Given the description of an element on the screen output the (x, y) to click on. 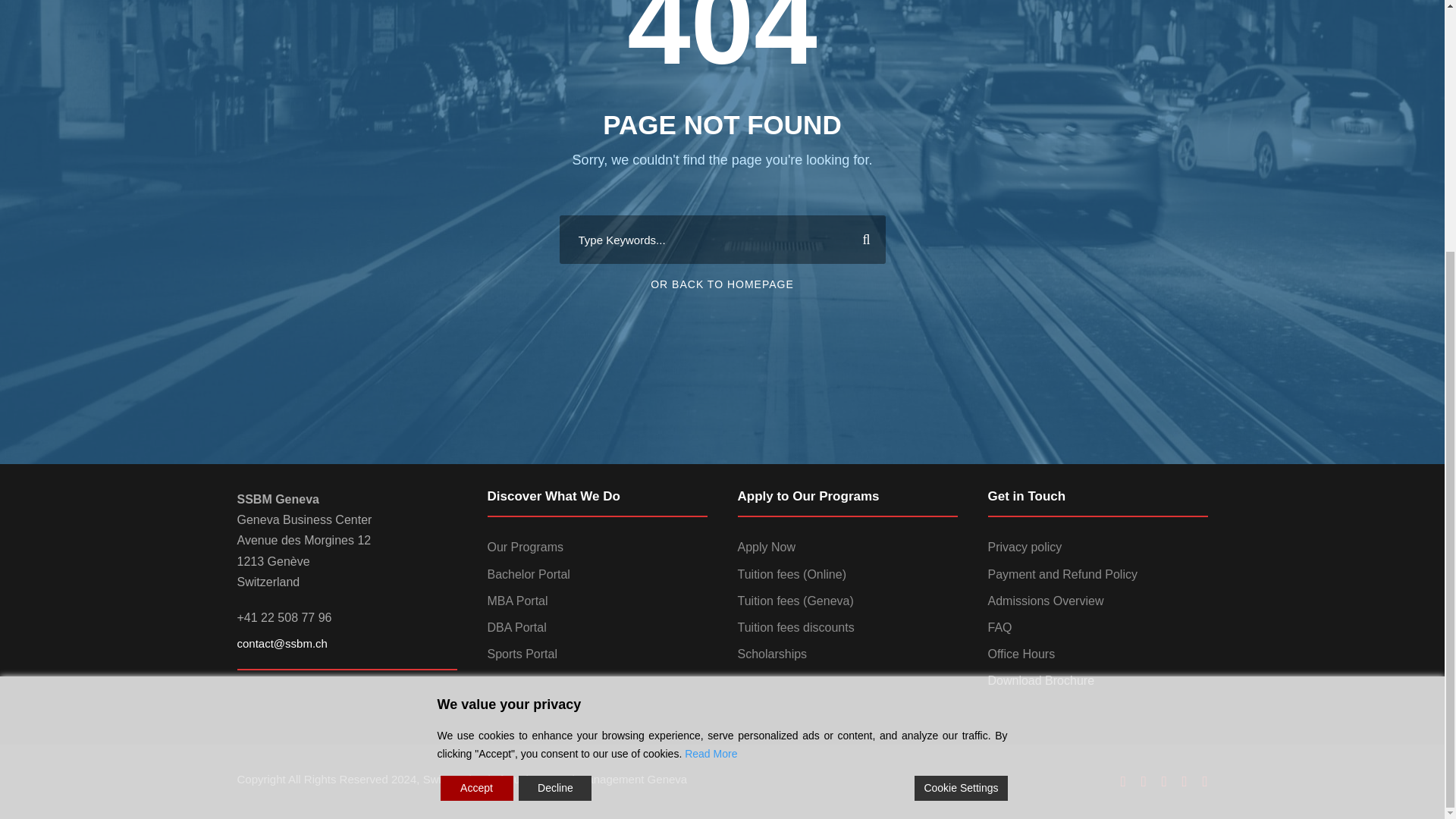
tumblr (1164, 781)
facebook (1123, 781)
linkedin (1144, 781)
instagram (1205, 781)
youtube (1185, 781)
